Given the description of an element on the screen output the (x, y) to click on. 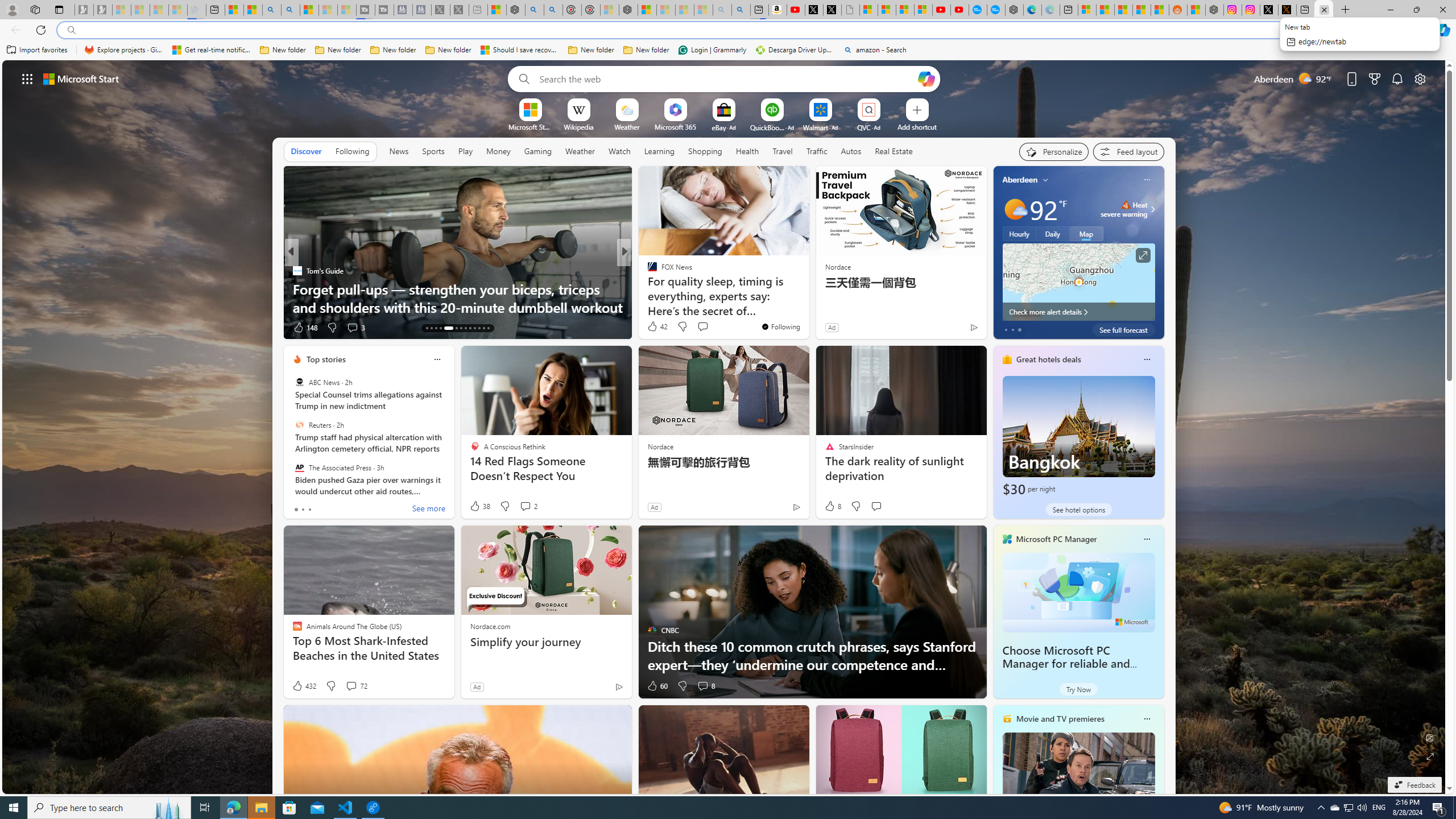
YouTube Kids - An App Created for Kids to Explore Content (960, 9)
492 Like (654, 327)
Travel (782, 151)
Hourly (1018, 233)
View comments 3 Comment (355, 327)
Gaming (537, 151)
The Kanso (647, 288)
Edit Background (1430, 737)
49 Like (652, 327)
AutomationID: tab-24 (483, 328)
Login | Grammarly (712, 49)
